Given the description of an element on the screen output the (x, y) to click on. 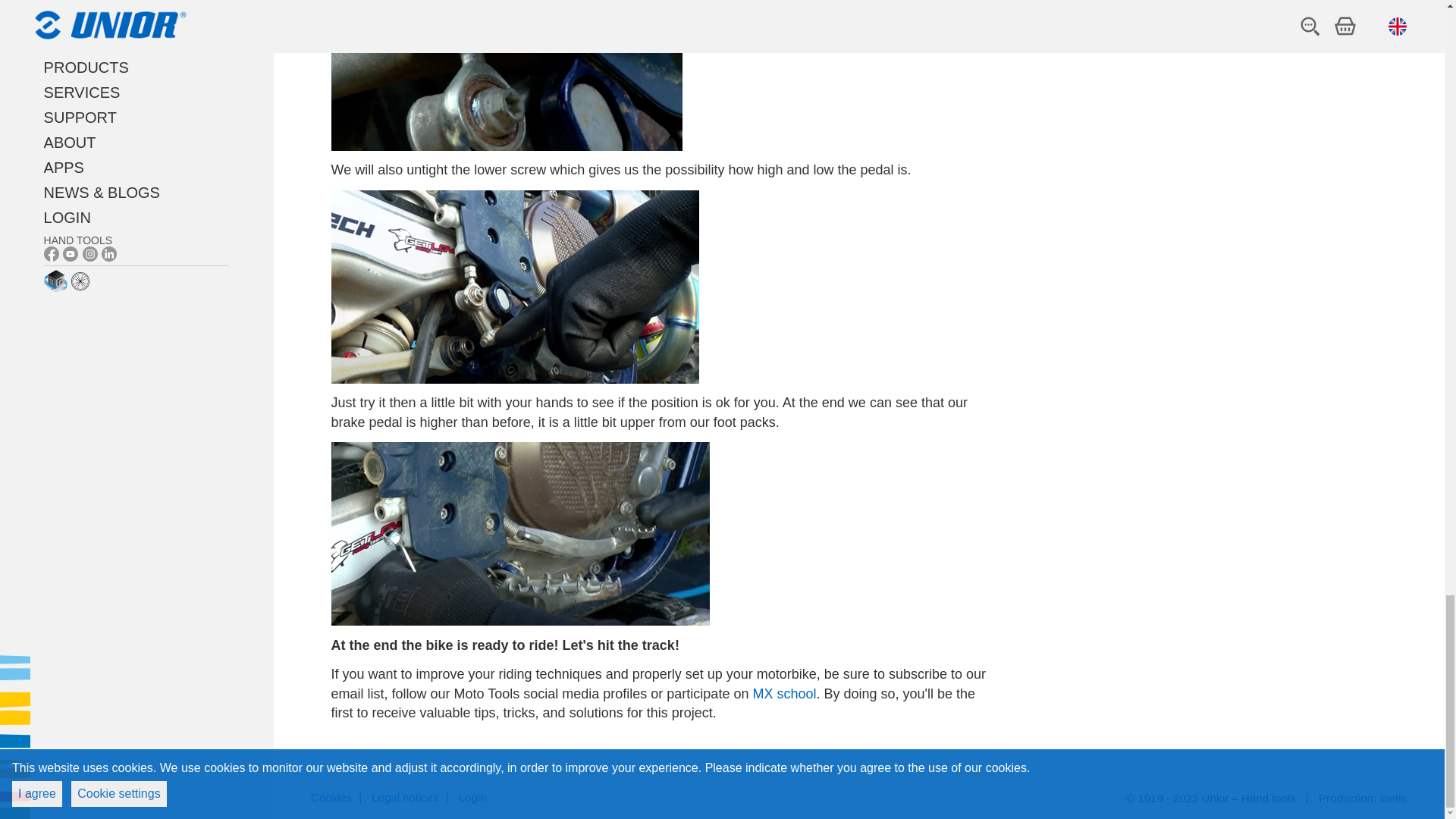
MX school (783, 693)
Login (472, 797)
Cookies (331, 797)
Legal notices (404, 797)
